Given the description of an element on the screen output the (x, y) to click on. 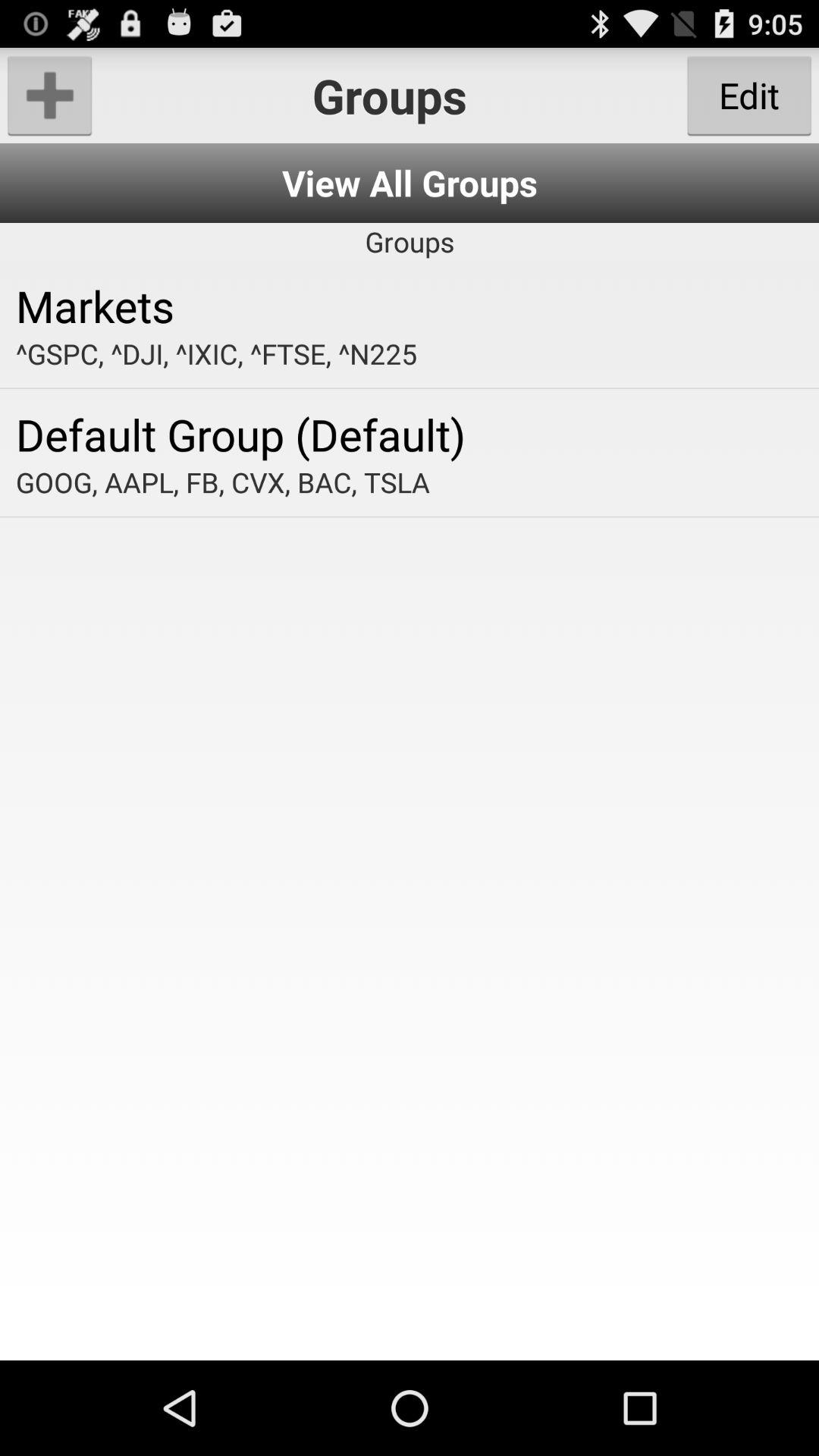
tap the app above the gspc dji ixic (409, 305)
